Given the description of an element on the screen output the (x, y) to click on. 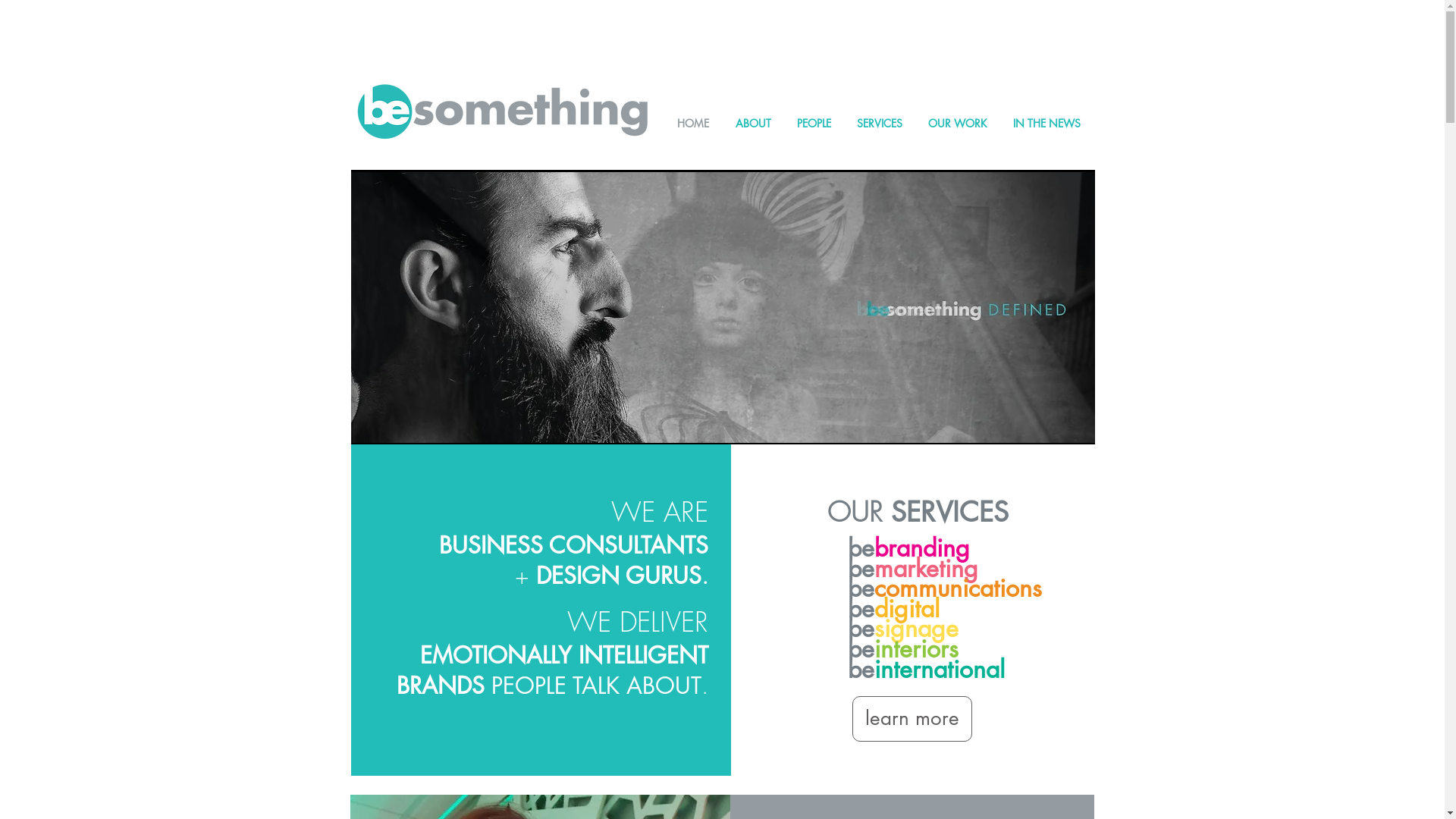
HOME Element type: text (693, 123)
IN THE NEWS Element type: text (1045, 123)
learn more Element type: text (912, 718)
OUR WORK Element type: text (956, 123)
SERVICES Element type: text (878, 123)
ABOUT Element type: text (752, 123)
PEOPLE Element type: text (814, 123)
